Given the description of an element on the screen output the (x, y) to click on. 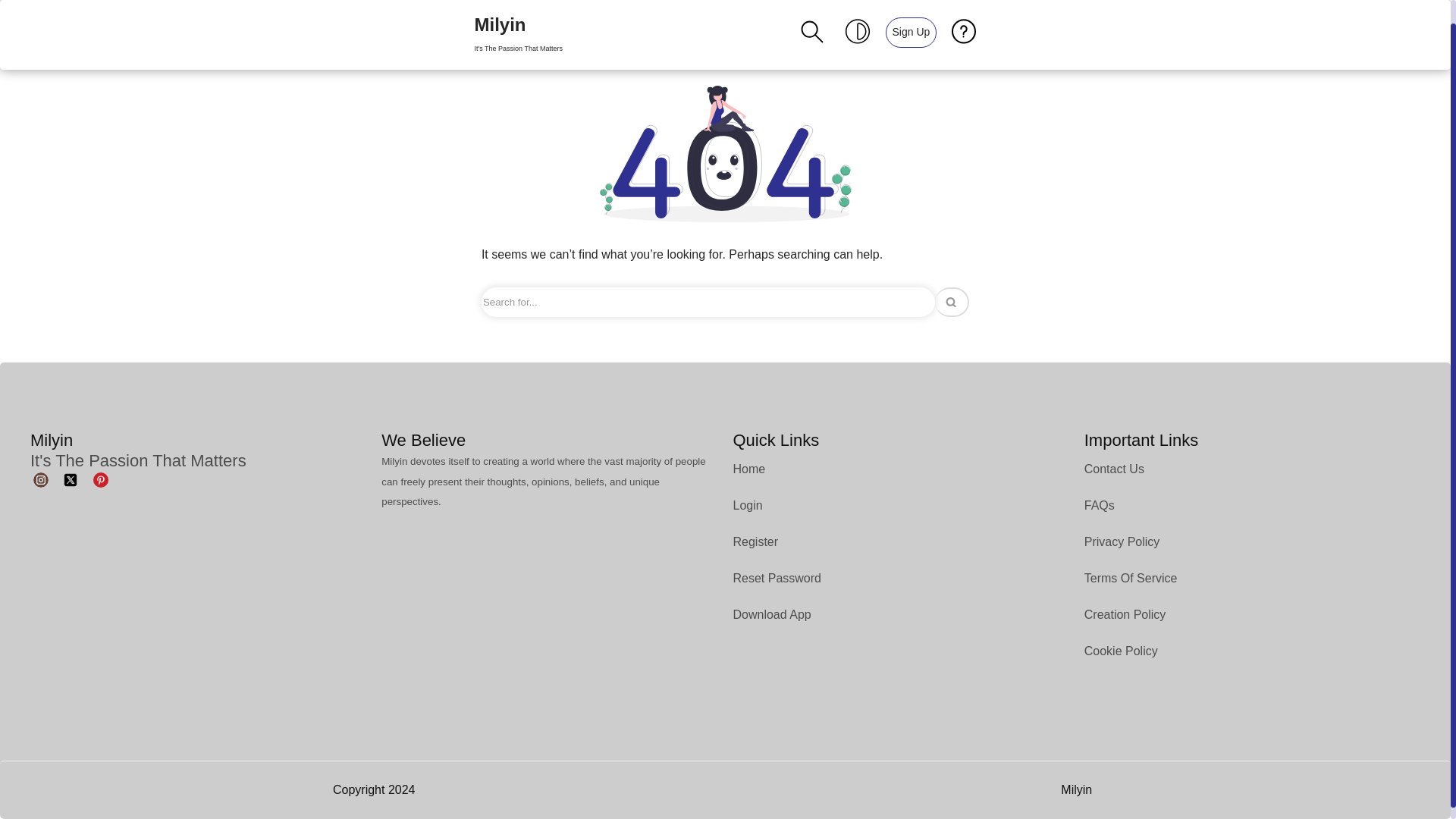
Milyin (518, 22)
Skip to content (11, 18)
Sign Up (518, 22)
Sign Up (910, 19)
